Given the description of an element on the screen output the (x, y) to click on. 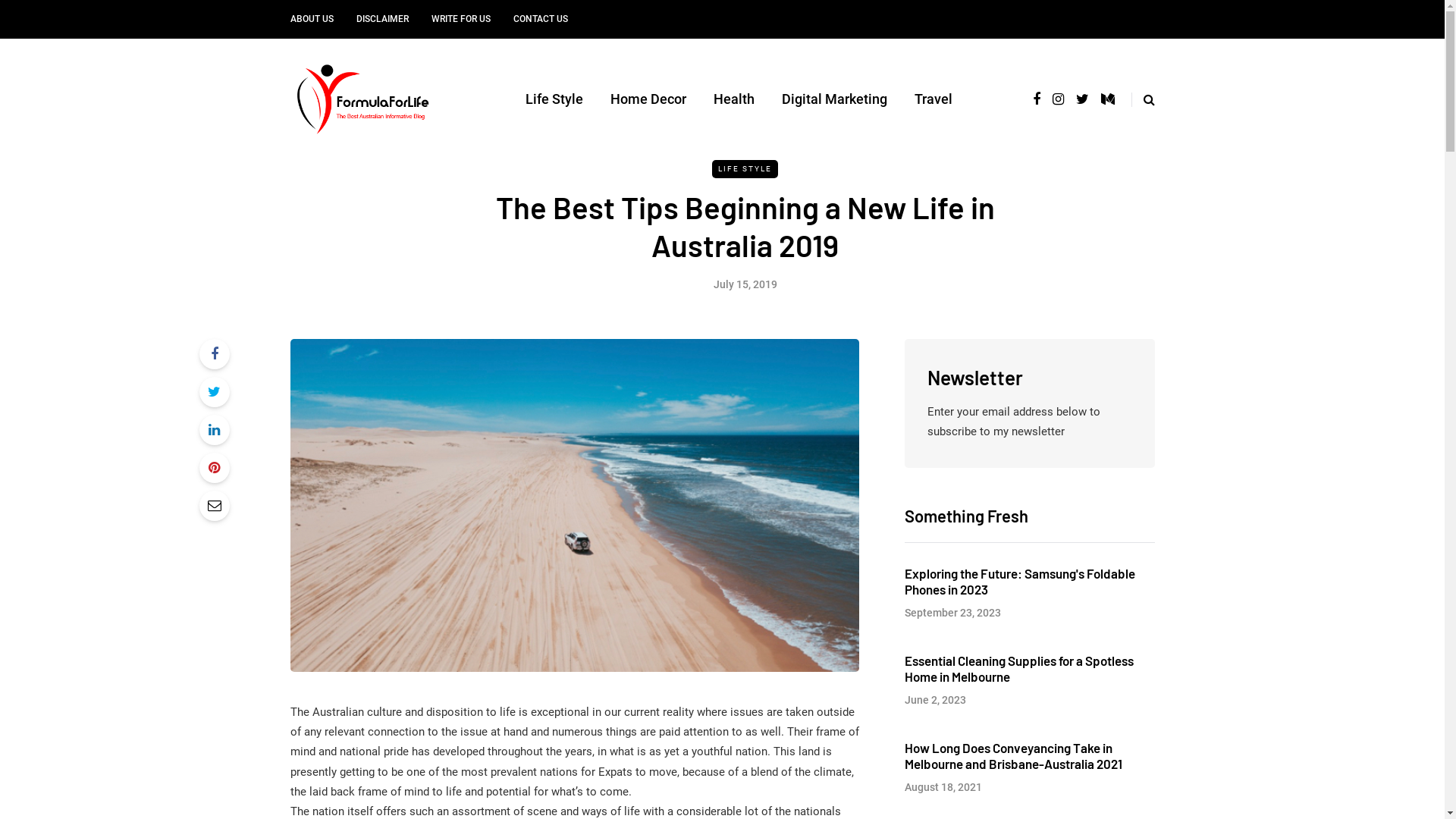
Travel Element type: text (933, 98)
WRITE FOR US Element type: text (461, 19)
Home Decor Element type: text (647, 98)
Share with LinkedIn Element type: hover (213, 429)
Share by Email Element type: hover (213, 505)
Share with Facebook Element type: hover (213, 353)
Life Style Element type: text (553, 98)
ABOUT US Element type: text (316, 19)
Search Element type: text (43, 15)
Digital Marketing Element type: text (834, 98)
Essential Cleaning Supplies for a Spotless Home in Melbourne Element type: text (1017, 667)
CONTACT US Element type: text (540, 19)
LIFE STYLE Element type: text (745, 169)
Pin this Element type: hover (213, 467)
Exploring the Future: Samsung's Foldable Phones in 2023 Element type: text (1018, 580)
Health Element type: text (733, 98)
Tweet this Element type: hover (213, 391)
DISCLAIMER Element type: text (381, 19)
